Given the description of an element on the screen output the (x, y) to click on. 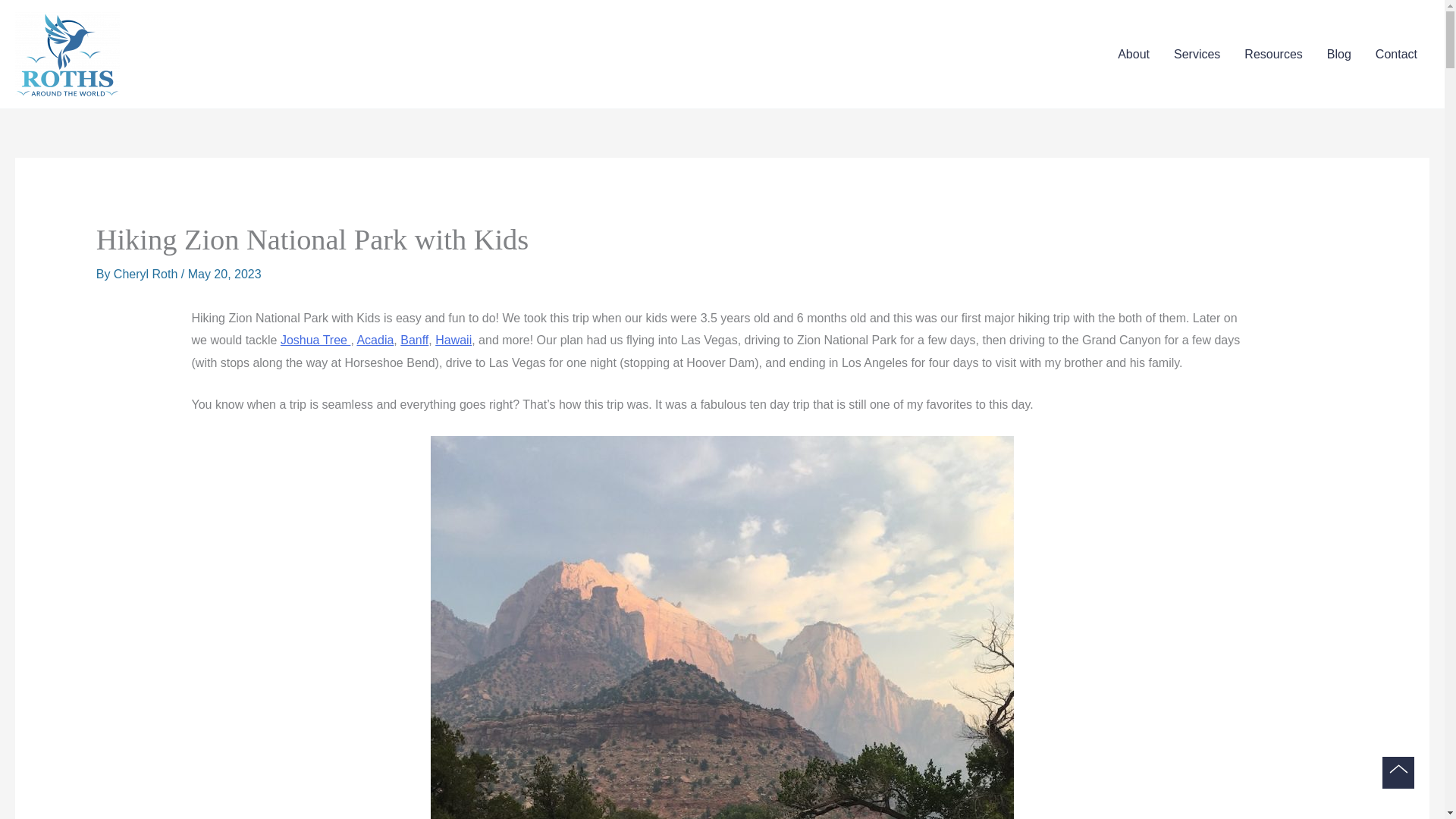
View all posts by Cheryl Roth (146, 273)
Joshua Tree (315, 339)
Hawaii (453, 339)
Resources (1272, 54)
Acadia (374, 339)
Banff (414, 339)
Contact (1395, 54)
Services (1196, 54)
Cheryl Roth (146, 273)
About (1133, 54)
